Given the description of an element on the screen output the (x, y) to click on. 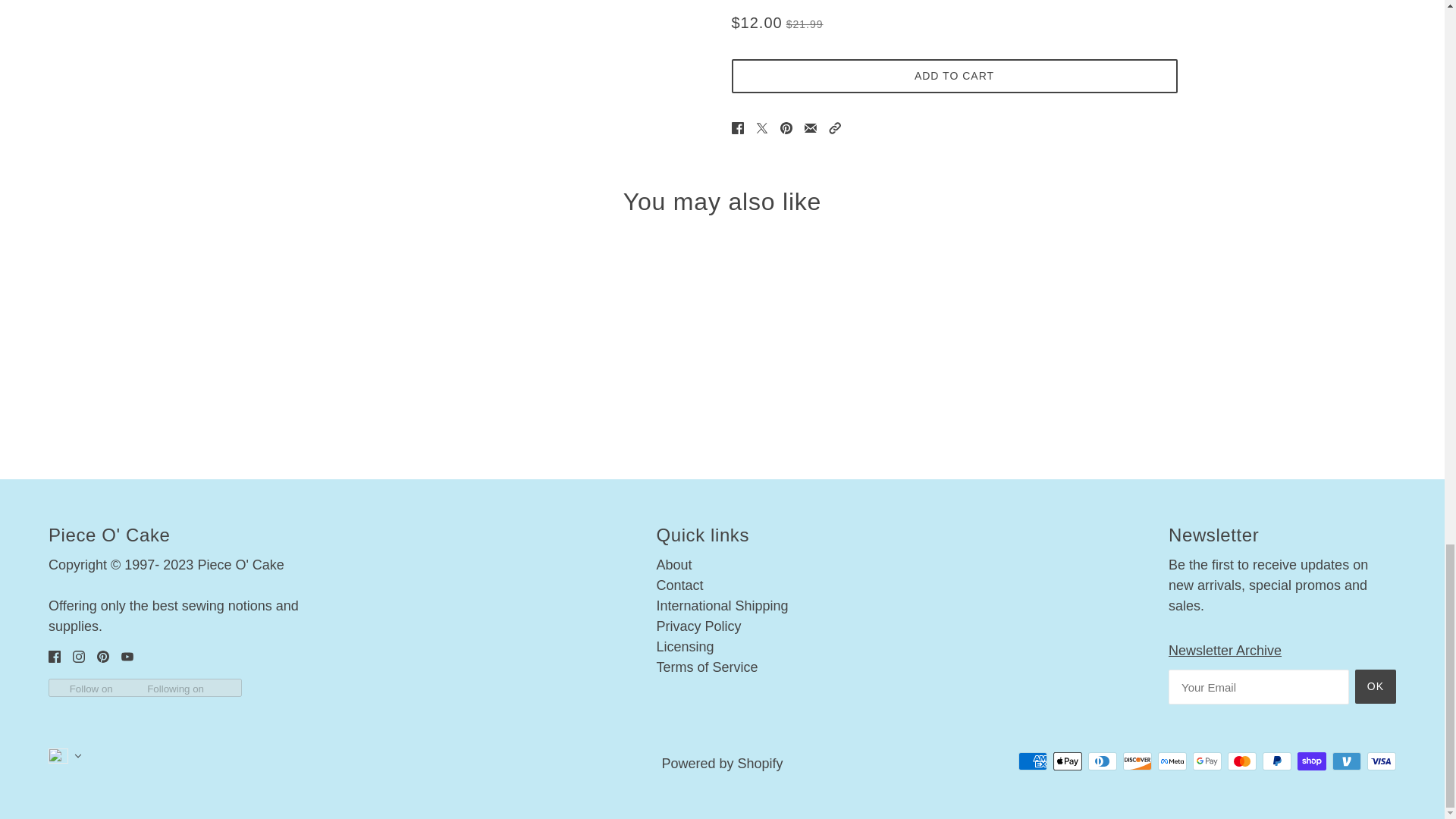
International Shipping (721, 605)
About (673, 564)
Contact (679, 585)
Licensing (684, 646)
Privacy Policy (698, 626)
Terms of Service (706, 667)
